Given the description of an element on the screen output the (x, y) to click on. 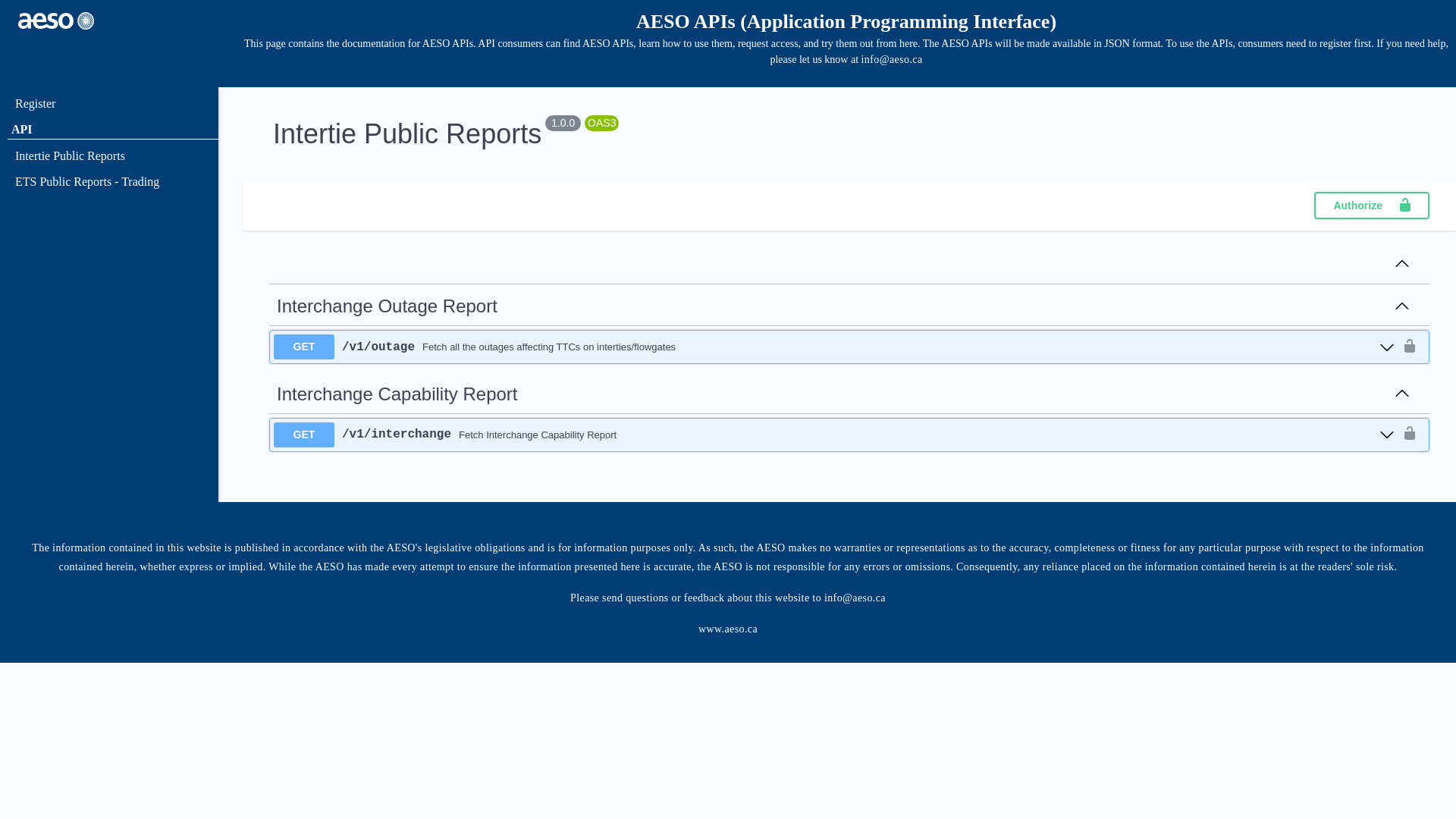
/v1/outage Element type: text (378, 347)
info@aeso.ca Element type: text (854, 597)
www.aeso.ca Element type: text (727, 628)
Interchange Outage Report Element type: text (386, 306)
Authorize Element type: text (1371, 205)
Interchange Capability Report Element type: text (396, 394)
info@aeso.ca Element type: text (891, 59)
/v1/interchange Element type: text (396, 434)
GET
/v1/interchange
Fetch Interchange Capability Report Element type: text (833, 434)
Collapse operation Element type: hover (1402, 264)
Collapse operation Element type: hover (1402, 393)
Collapse operation Element type: hover (1402, 306)
